Given the description of an element on the screen output the (x, y) to click on. 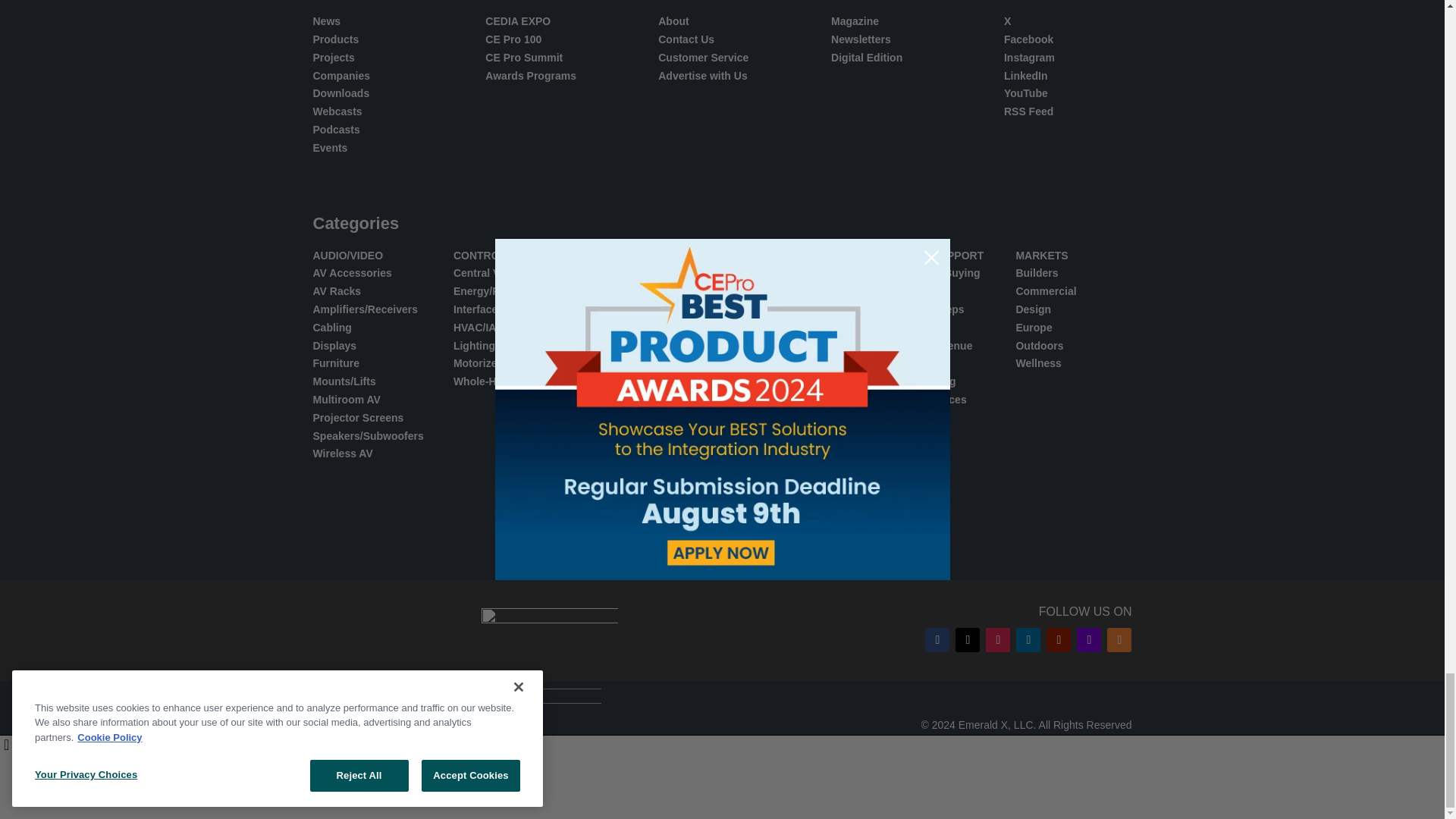
Follow on Instagram (997, 639)
careers (566, 793)
emelarld-logo-transparent (506, 725)
about (515, 793)
Follow on FlipBoard (1088, 639)
Follow on X (967, 639)
authorized-service-providers (690, 793)
Follow on Youtube (1058, 639)
Follow on Facebook (936, 639)
Follow on RSS (1118, 639)
Follow on LinkedIn (1028, 639)
CE Pro Logo (549, 630)
your-privacy-choices (855, 793)
